Given the description of an element on the screen output the (x, y) to click on. 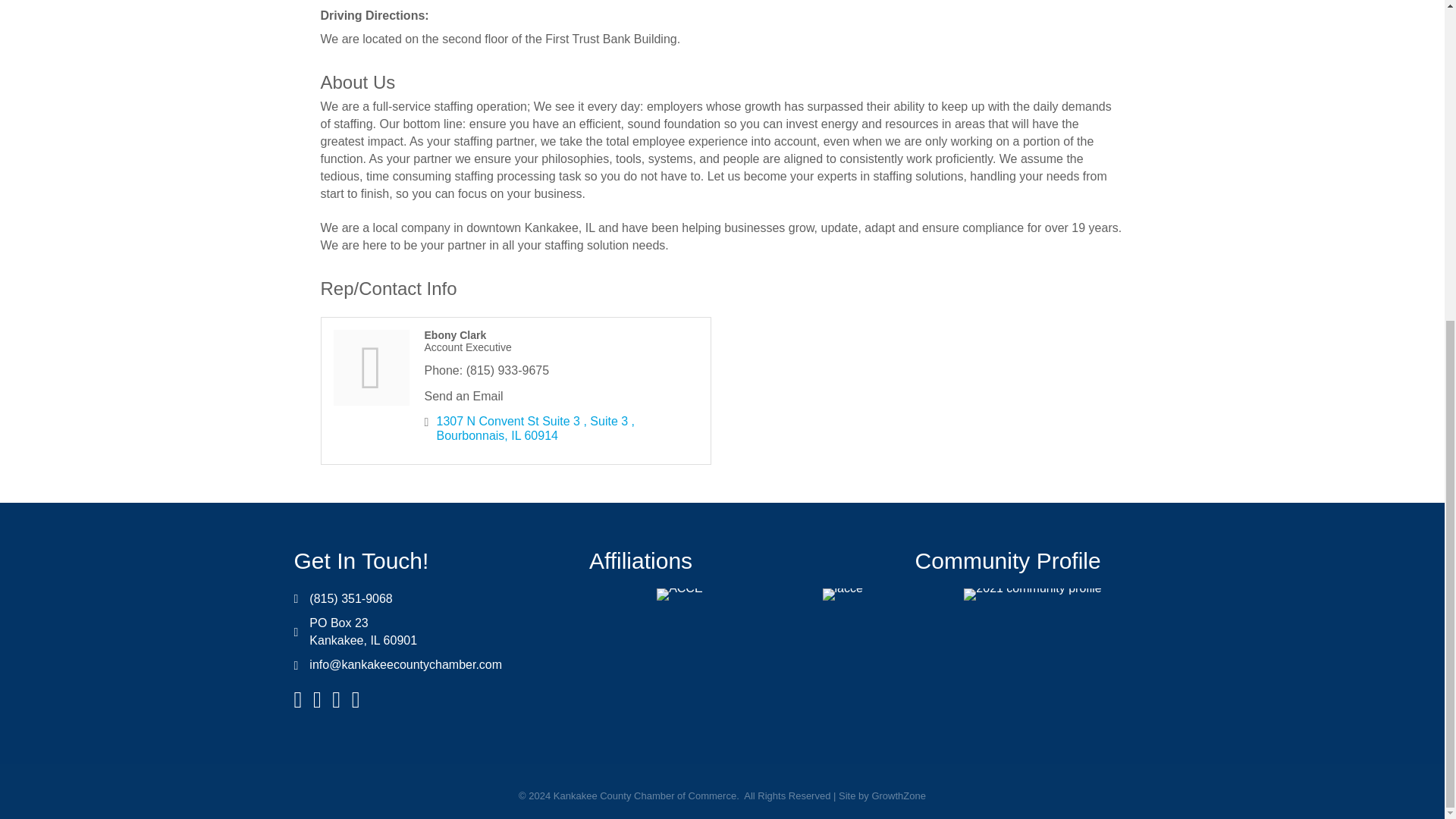
communityprofile-2021-h150 (1031, 594)
iacce (842, 594)
ACCE (678, 594)
Community Profile (1007, 560)
